Given the description of an element on the screen output the (x, y) to click on. 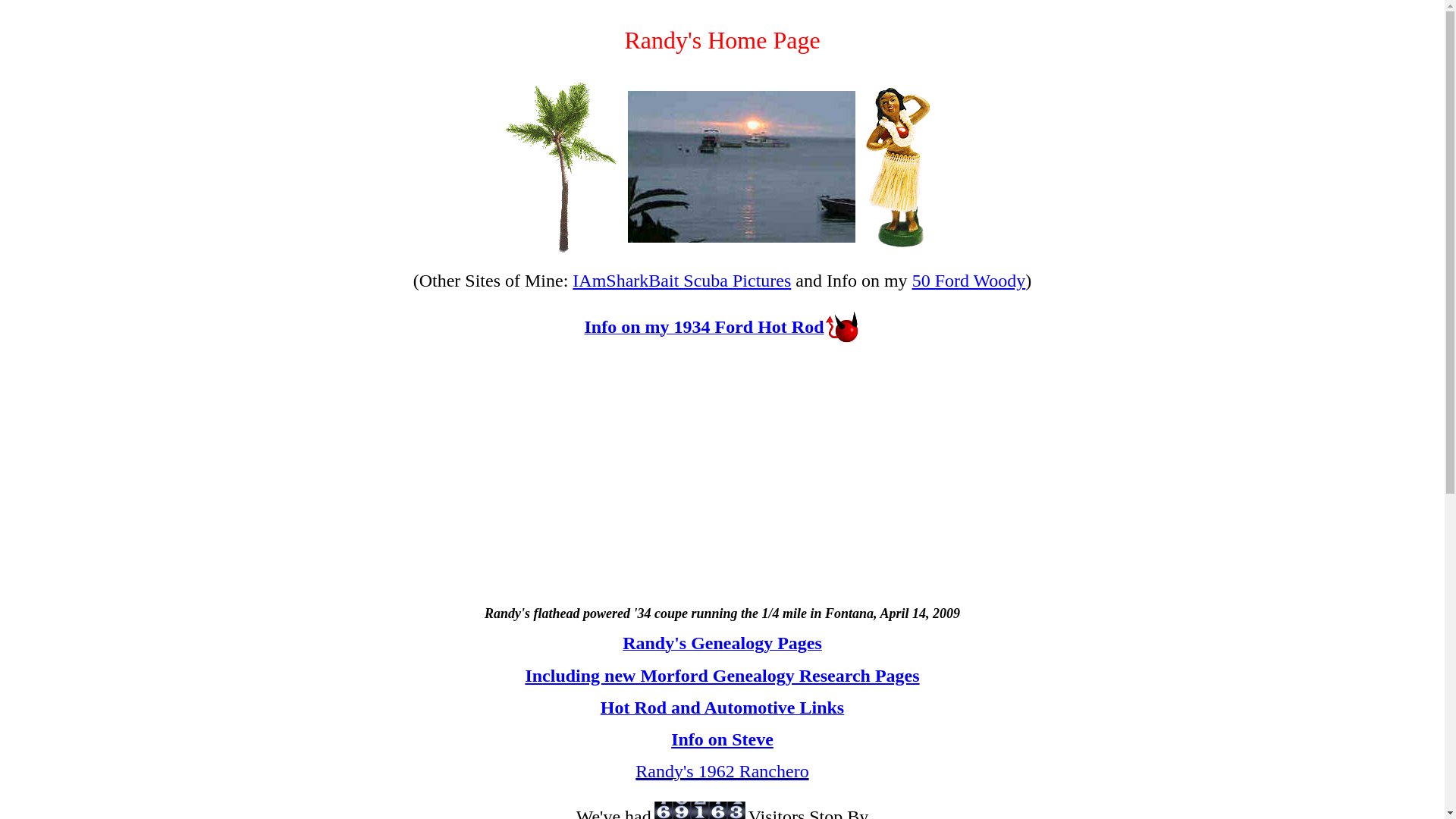
50 Ford Woody (969, 280)
Hot Rod and Automotive Links (721, 708)
Info on my 1934 Ford Hot Rod (703, 327)
Randy's Genealogy Pages (722, 644)
IAmSharkBait Scuba Pictures (681, 280)
Randy's 1962 Ranchero (721, 771)
Including new Morford Genealogy Research Pages (721, 675)
Info on Steve (722, 739)
